Given the description of an element on the screen output the (x, y) to click on. 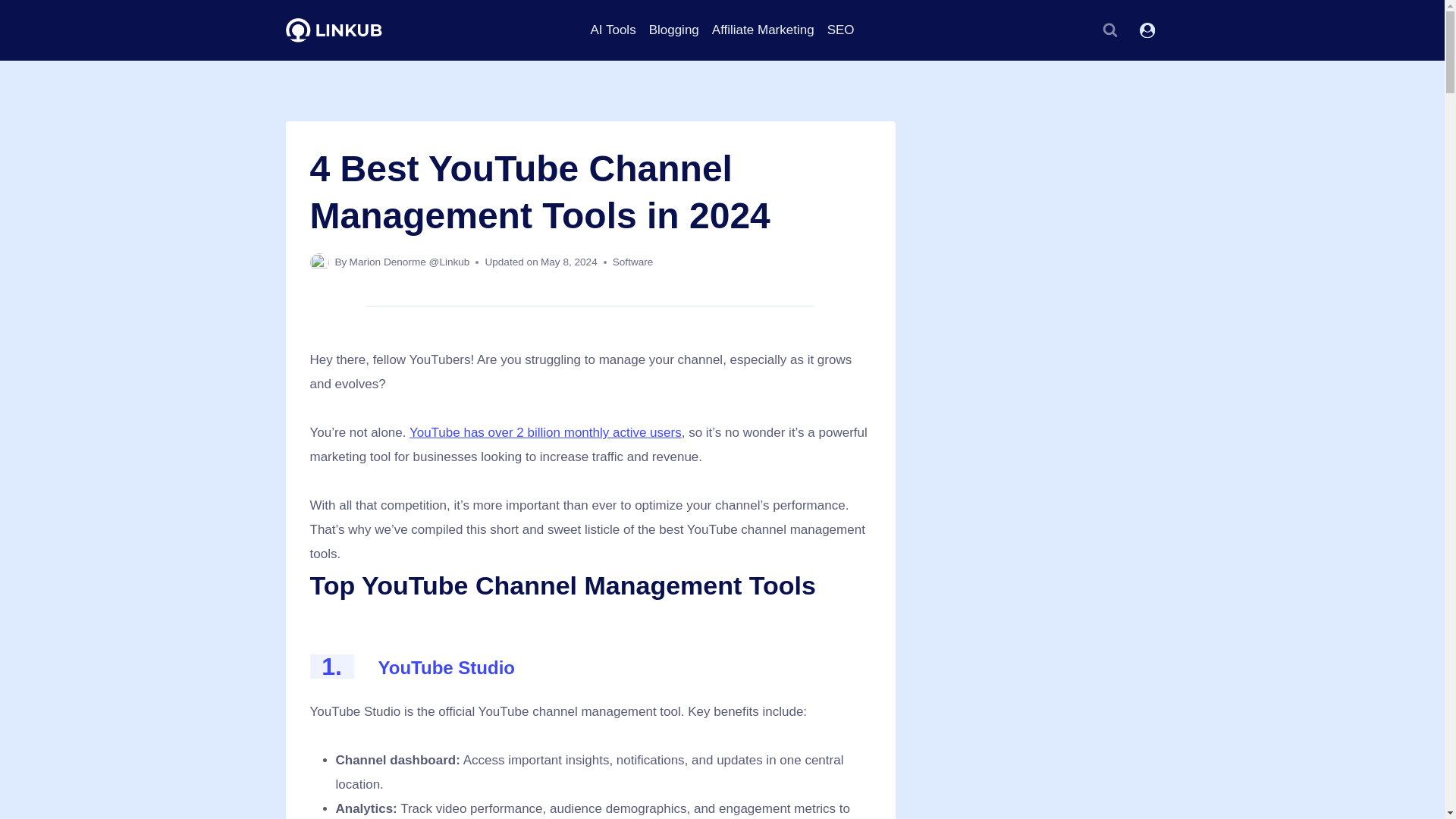
Blogging (673, 29)
Software (632, 261)
Affiliate Marketing (762, 29)
YouTube has over 2 billion monthly active users (545, 432)
AI Tools (612, 29)
SEO (840, 29)
YouTube Studio (446, 667)
